Given the description of an element on the screen output the (x, y) to click on. 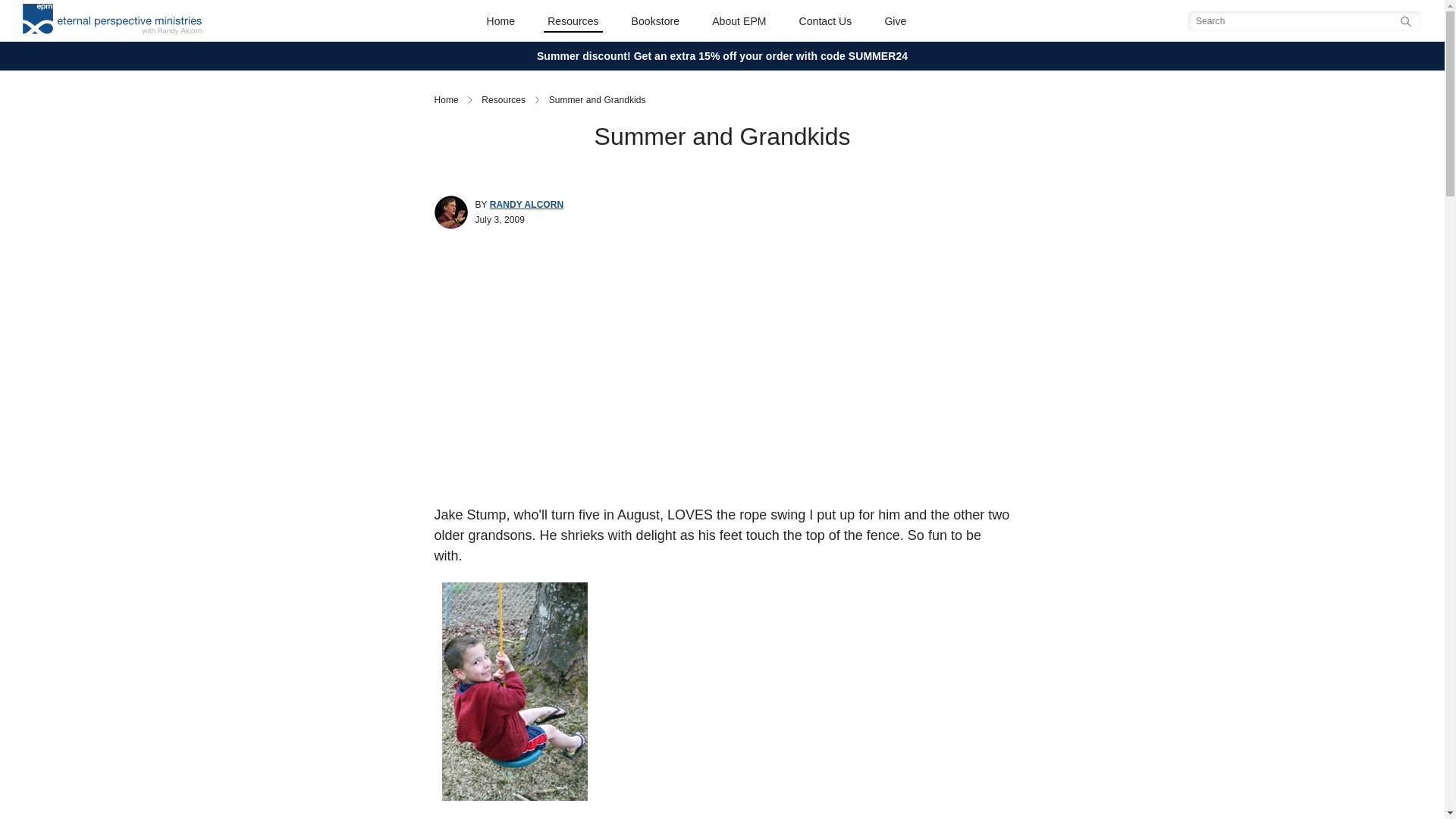
Home (445, 100)
Bookstore (655, 20)
Resources (503, 100)
Home (501, 20)
Give (895, 20)
Summer and Grandkids (597, 100)
Contact Us (825, 20)
RANDY ALCORN (526, 204)
About EPM (738, 20)
Resources (572, 20)
